Given the description of an element on the screen output the (x, y) to click on. 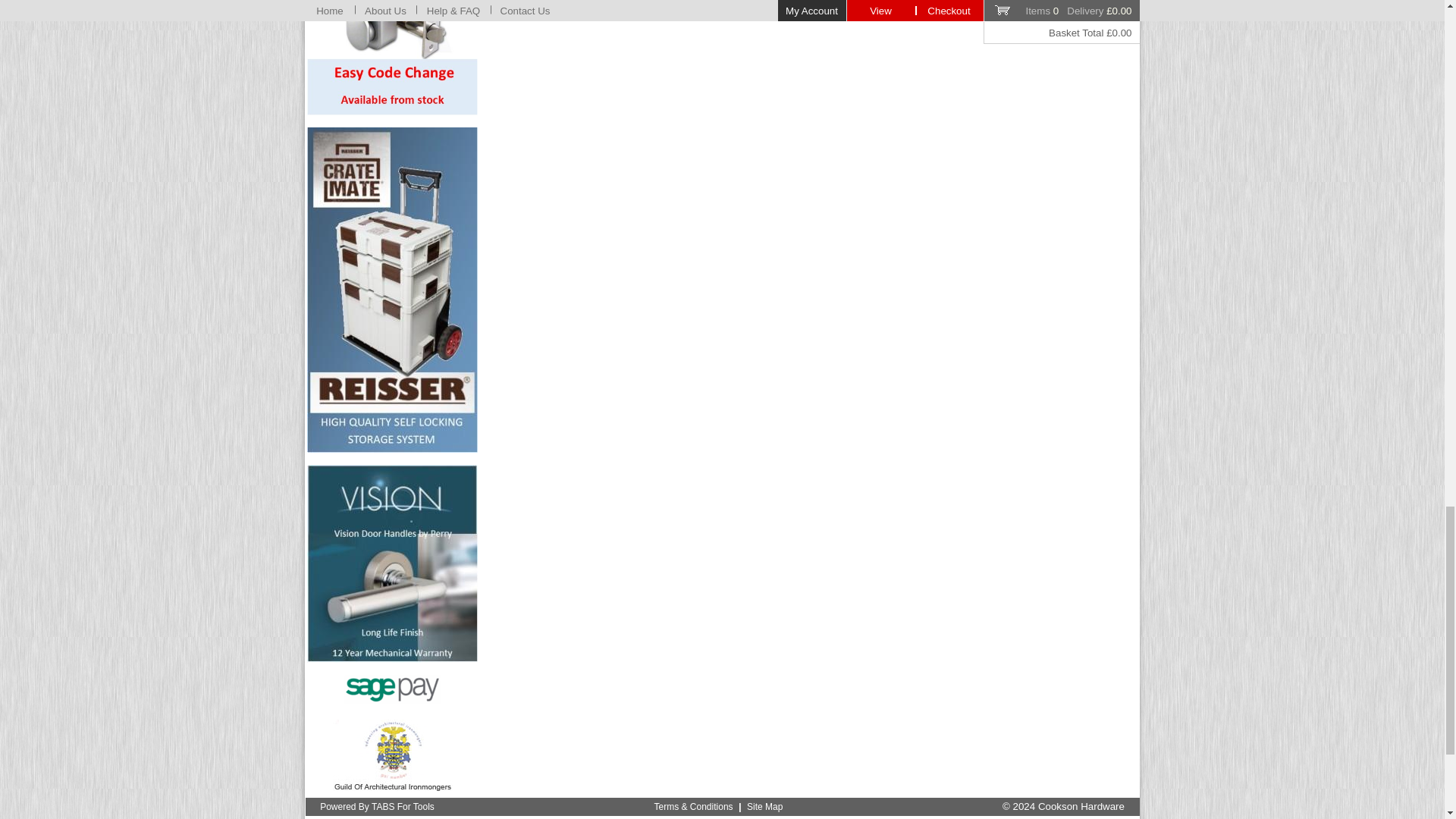
Sagepay (392, 688)
Securefast Digital Code Locks. (392, 57)
